Given the description of an element on the screen output the (x, y) to click on. 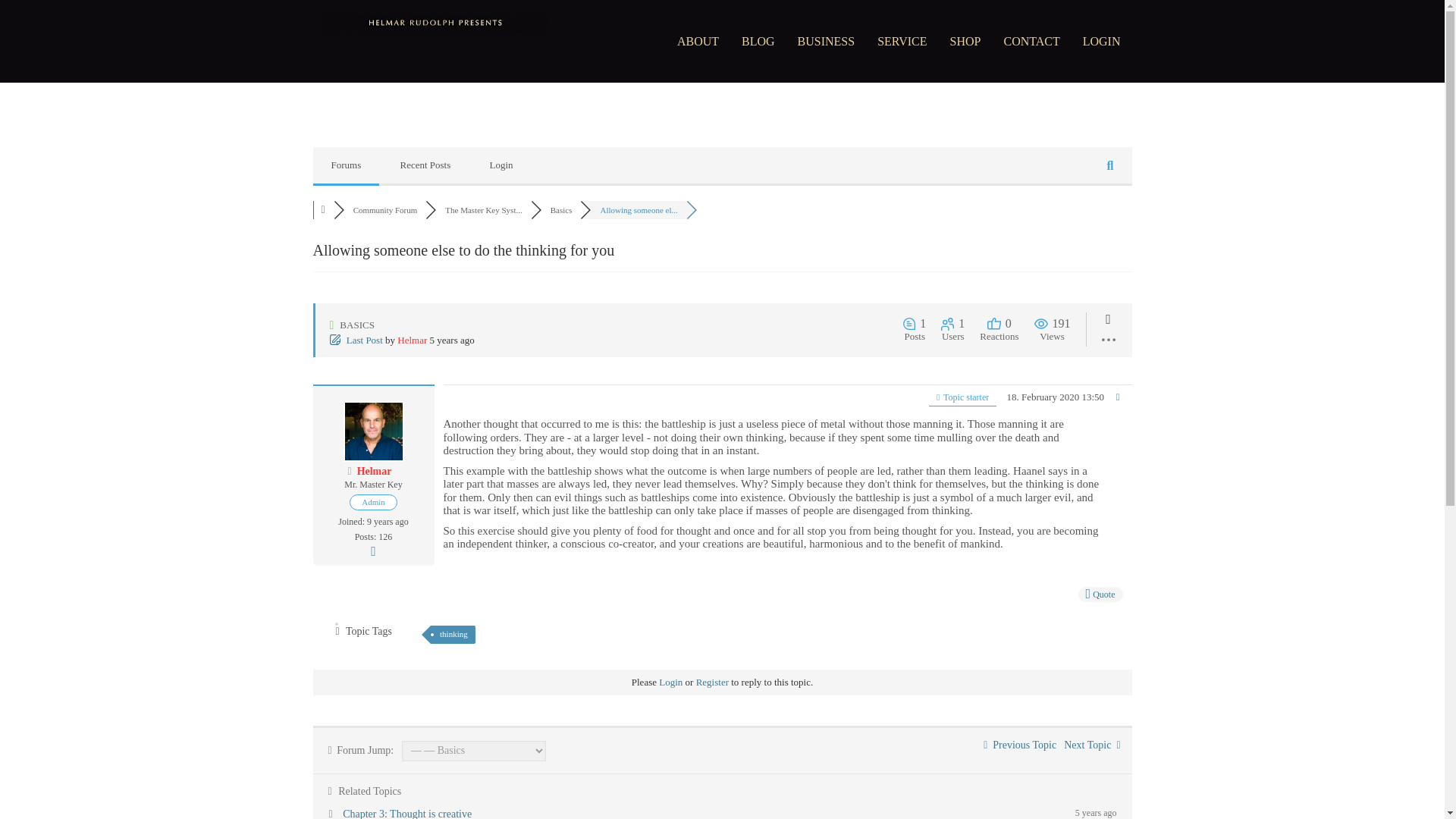
Helmar (411, 339)
Basics (561, 209)
User Title (372, 484)
thinking (453, 634)
Basics (561, 209)
LOGIN (1101, 41)
Helmar (411, 339)
Evolution, Harmony, Nature (1020, 745)
CONTACT (1030, 41)
Recent Posts (424, 165)
